Given the description of an element on the screen output the (x, y) to click on. 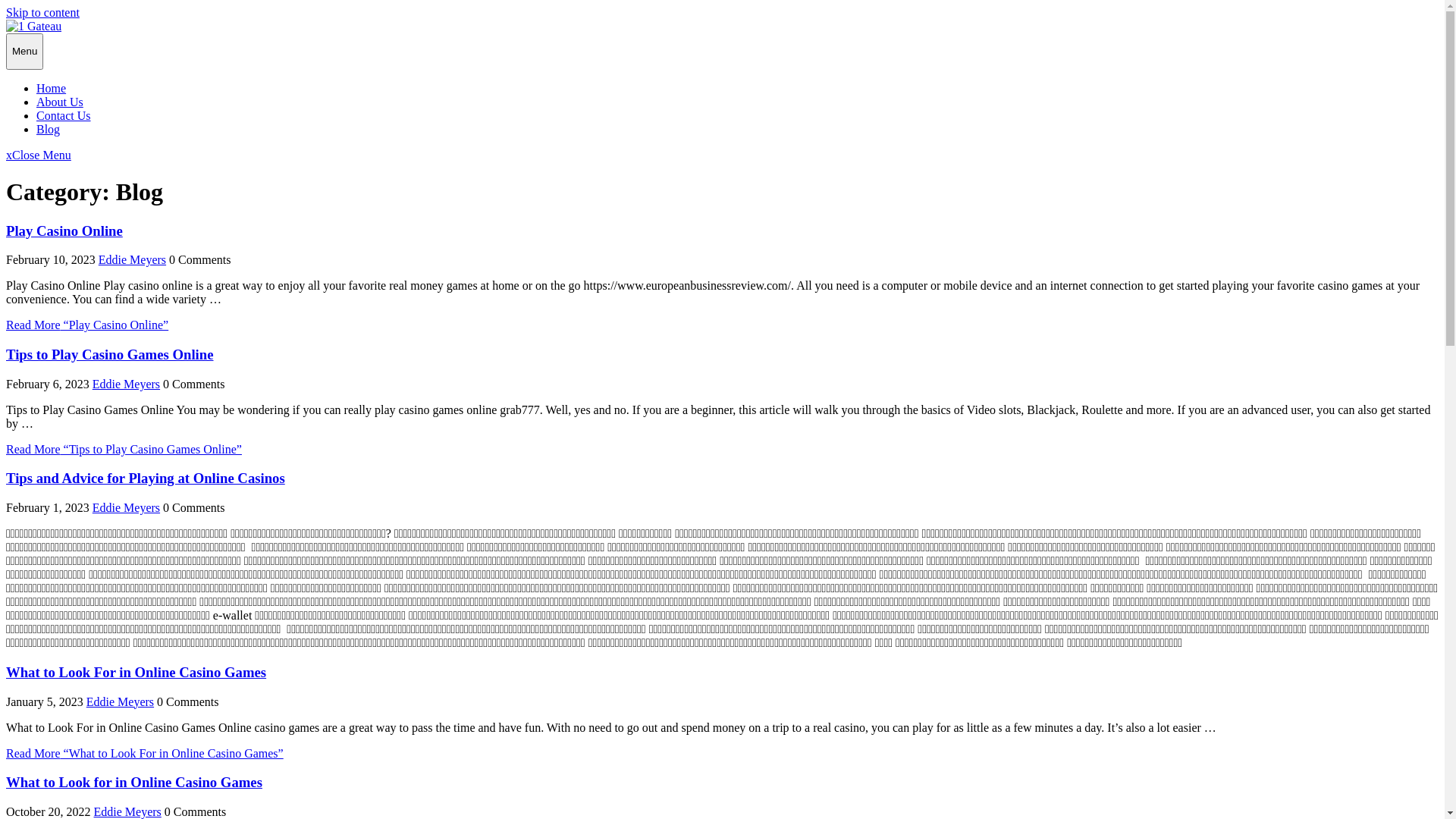
Tips to Play Casino Games Online Element type: text (109, 354)
Home Element type: text (50, 87)
About Us Element type: text (59, 101)
Blog Element type: text (47, 128)
What to Look For in Online Casino Games Element type: text (136, 672)
xClose Menu Element type: text (38, 154)
Eddie Meyers Element type: text (127, 811)
Menu Element type: text (24, 51)
Eddie Meyers Element type: text (119, 701)
Eddie Meyers Element type: text (126, 383)
Eddie Meyers Element type: text (126, 507)
Tips and Advice for Playing at Online Casinos Element type: text (145, 478)
What to Look for in Online Casino Games Element type: text (134, 782)
Skip to content Element type: text (42, 12)
Play Casino Online Element type: text (64, 230)
Eddie Meyers Element type: text (132, 259)
Contact Us Element type: text (63, 115)
